Given the description of an element on the screen output the (x, y) to click on. 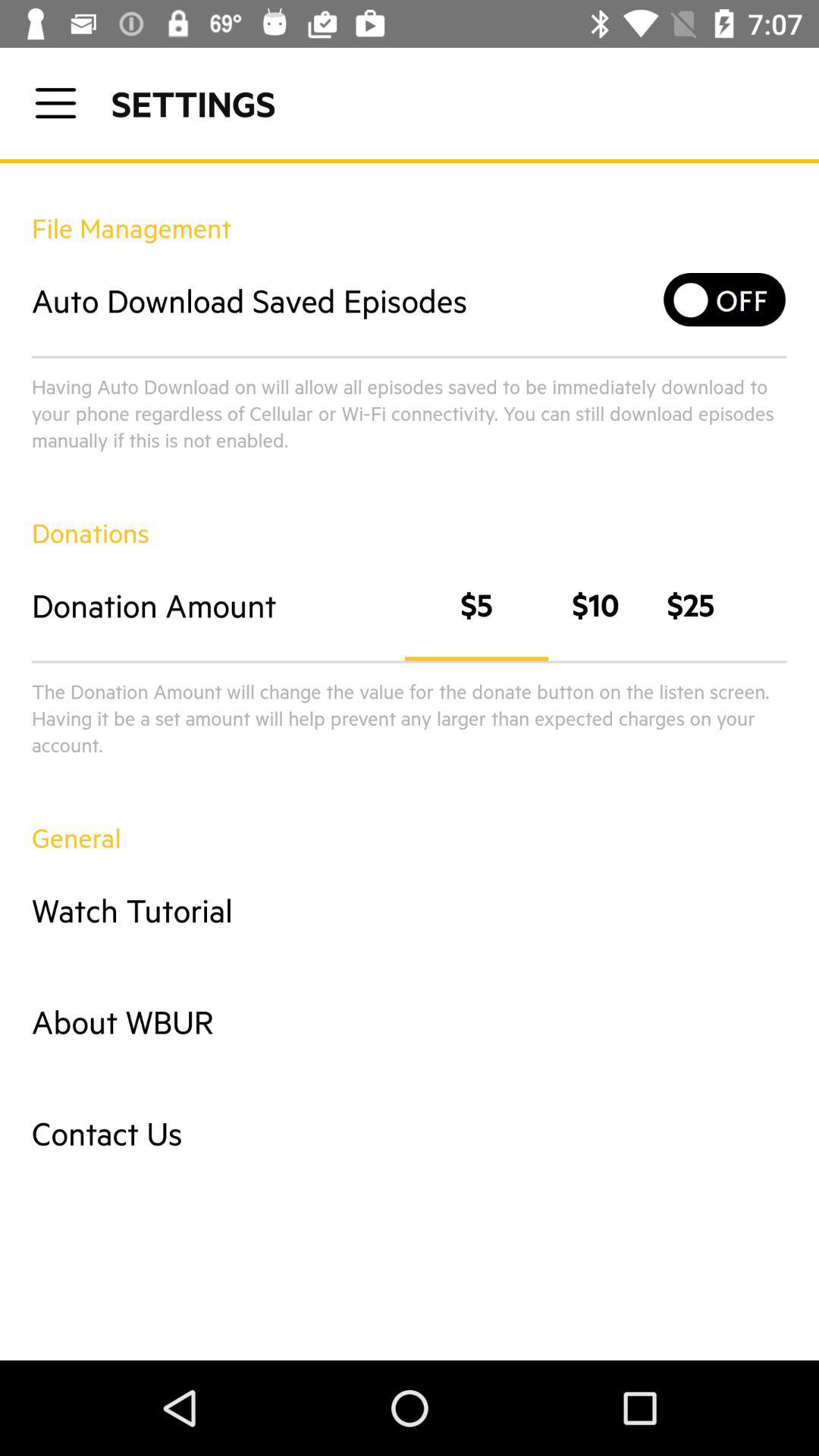
turn on icon to the right of auto download saved (725, 300)
